Given the description of an element on the screen output the (x, y) to click on. 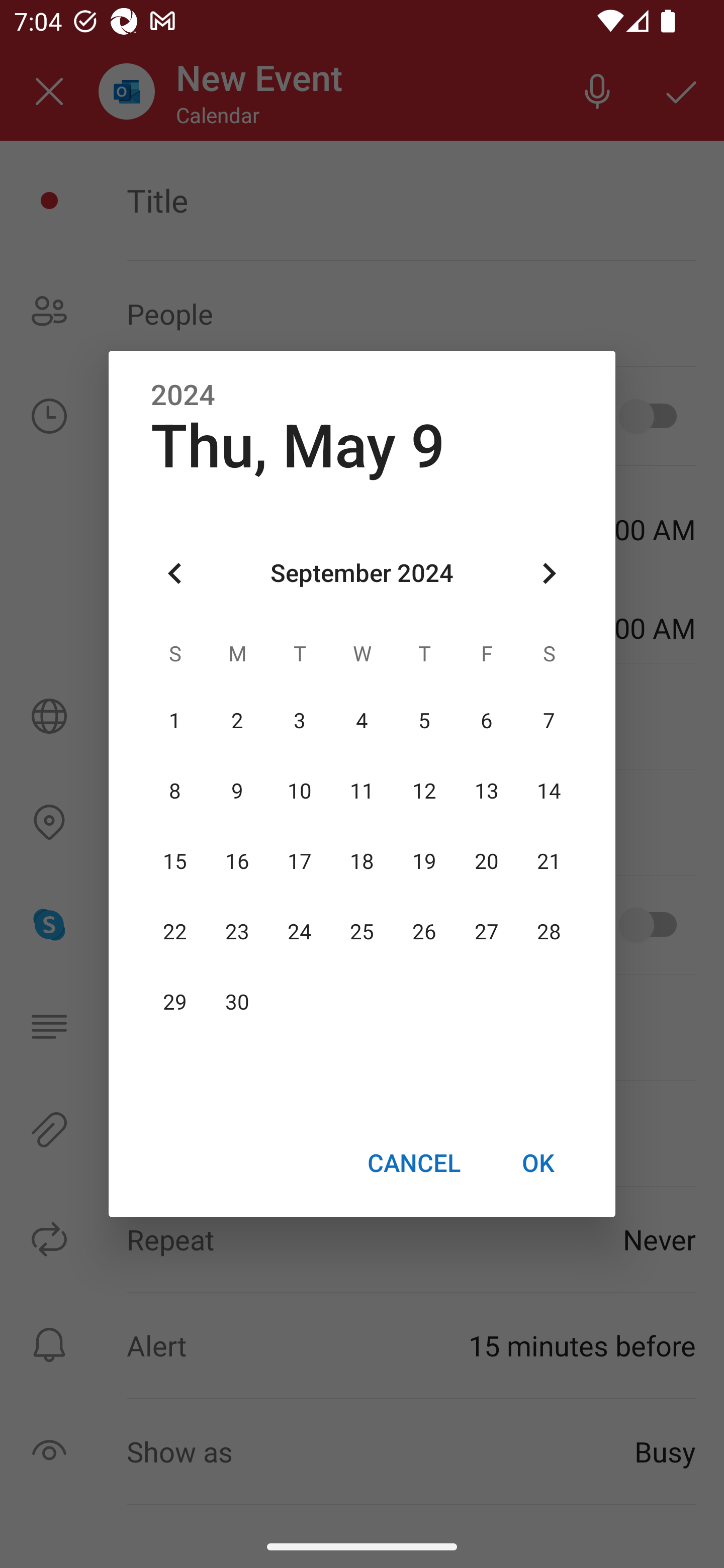
2024 (182, 395)
Thu, May 9 (297, 446)
Previous month (174, 573)
Next month (548, 573)
1 01 September 2024 (175, 720)
2 02 September 2024 (237, 720)
3 03 September 2024 (299, 720)
4 04 September 2024 (361, 720)
5 05 September 2024 (424, 720)
6 06 September 2024 (486, 720)
7 07 September 2024 (548, 720)
8 08 September 2024 (175, 790)
9 09 September 2024 (237, 790)
10 10 September 2024 (299, 790)
11 11 September 2024 (361, 790)
12 12 September 2024 (424, 790)
13 13 September 2024 (486, 790)
14 14 September 2024 (548, 790)
15 15 September 2024 (175, 861)
16 16 September 2024 (237, 861)
17 17 September 2024 (299, 861)
18 18 September 2024 (361, 861)
19 19 September 2024 (424, 861)
20 20 September 2024 (486, 861)
21 21 September 2024 (548, 861)
22 22 September 2024 (175, 931)
23 23 September 2024 (237, 931)
24 24 September 2024 (299, 931)
25 25 September 2024 (361, 931)
26 26 September 2024 (424, 931)
27 27 September 2024 (486, 931)
28 28 September 2024 (548, 931)
29 29 September 2024 (175, 1002)
30 30 September 2024 (237, 1002)
CANCEL (413, 1162)
OK (537, 1162)
